Given the description of an element on the screen output the (x, y) to click on. 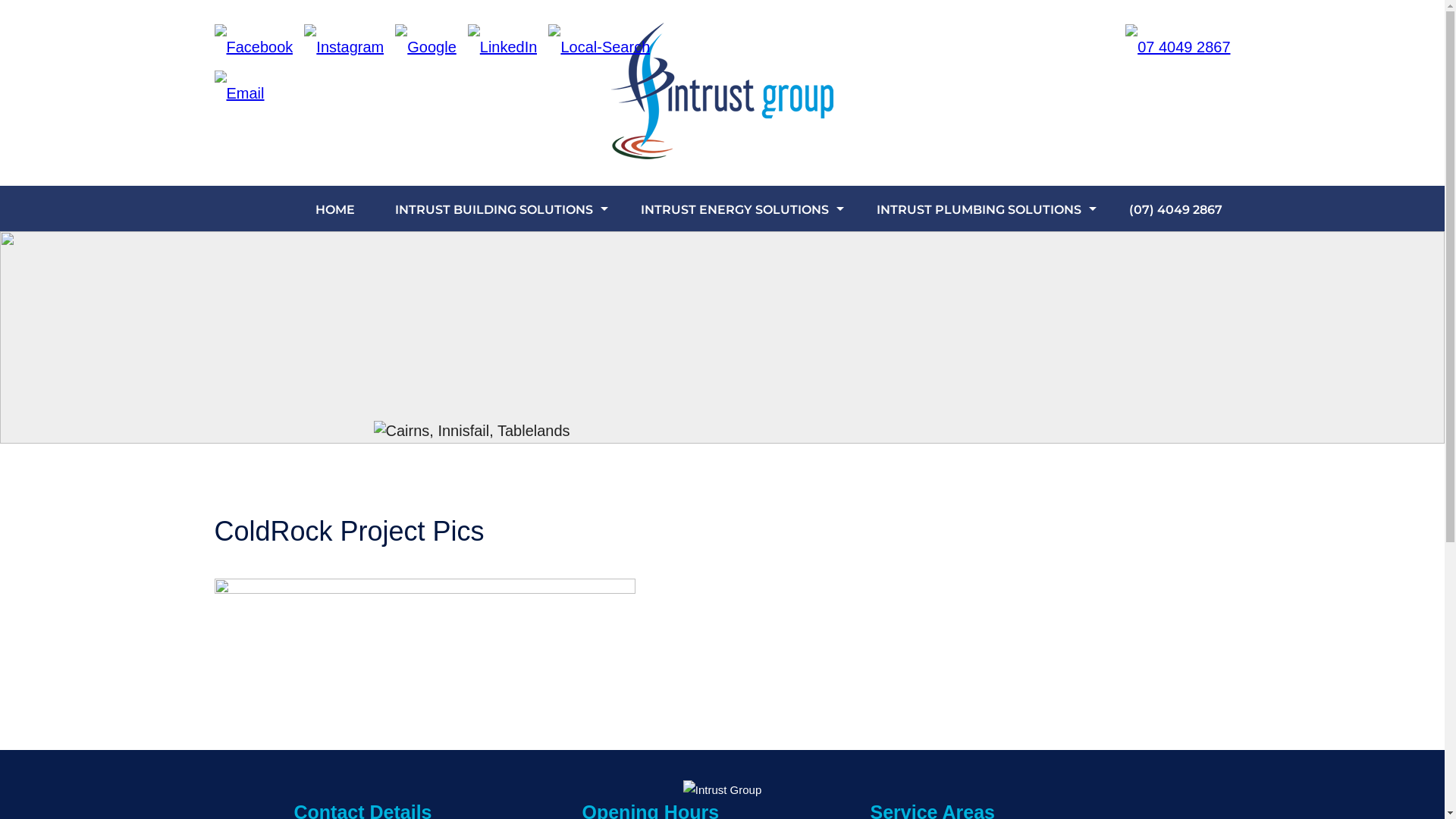
MORE Element type: text (259, 228)
INTRUST ENERGY SOLUTIONS Element type: text (734, 208)
(07) 4049 2867 Element type: text (1175, 208)
INTRUST PLUMBING SOLUTIONS Element type: text (978, 208)
HOME Element type: text (334, 208)
INTRUST BUILDING SOLUTIONS Element type: text (493, 208)
